Given the description of an element on the screen output the (x, y) to click on. 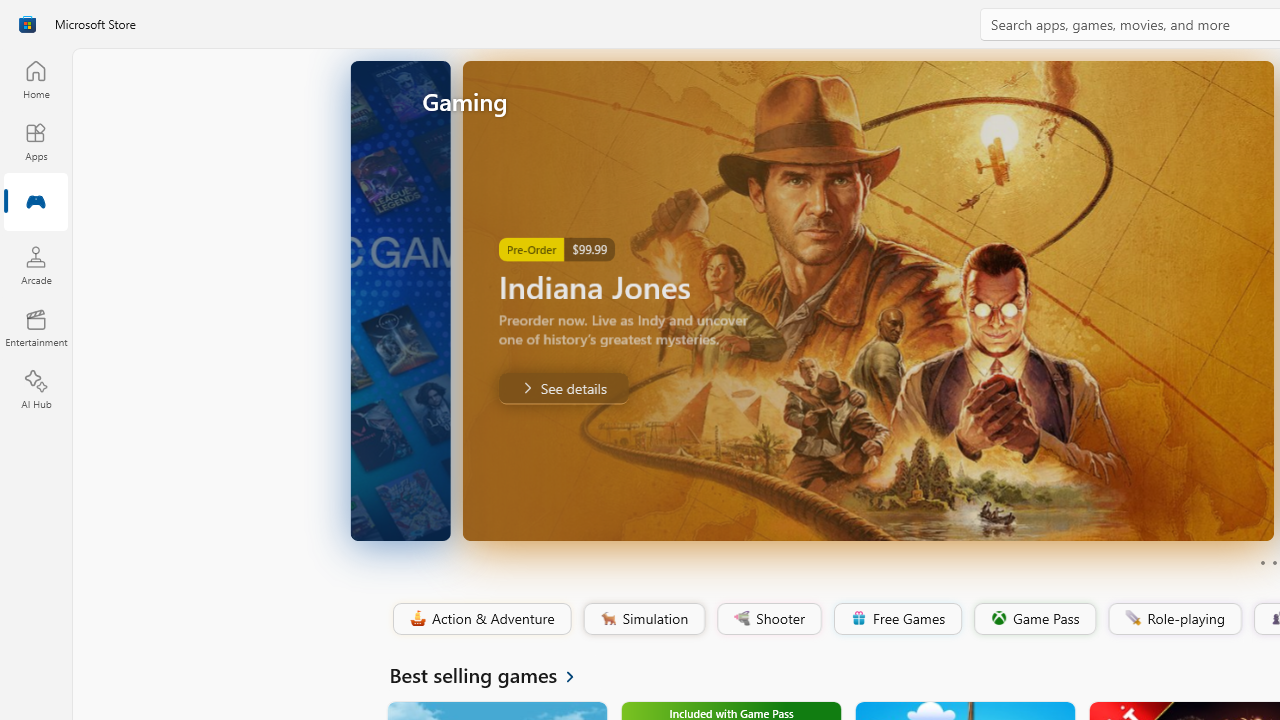
Free Games (897, 619)
Arcade (35, 265)
Game Pass (1033, 619)
